Given the description of an element on the screen output the (x, y) to click on. 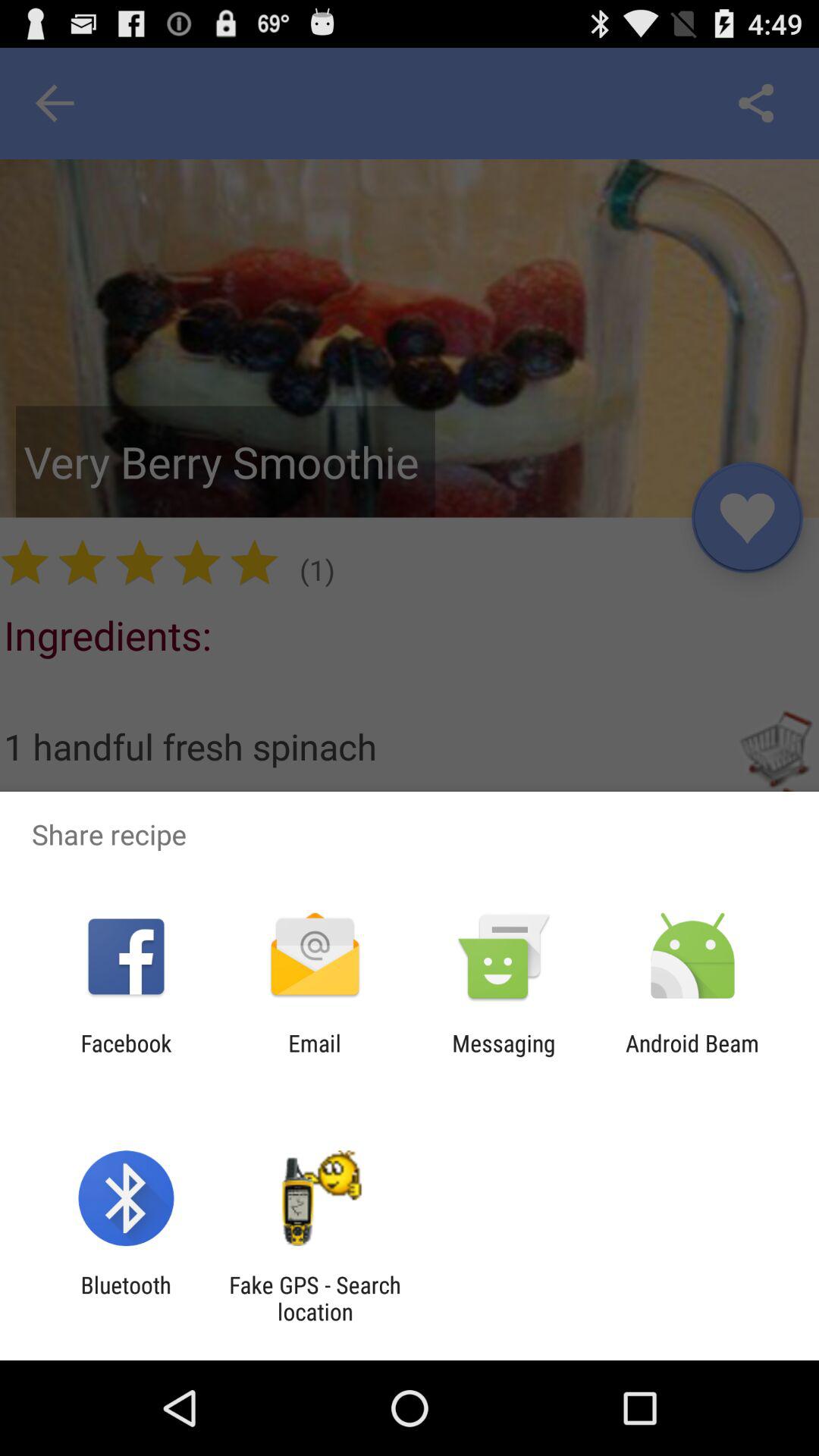
press the app to the right of email (503, 1056)
